Given the description of an element on the screen output the (x, y) to click on. 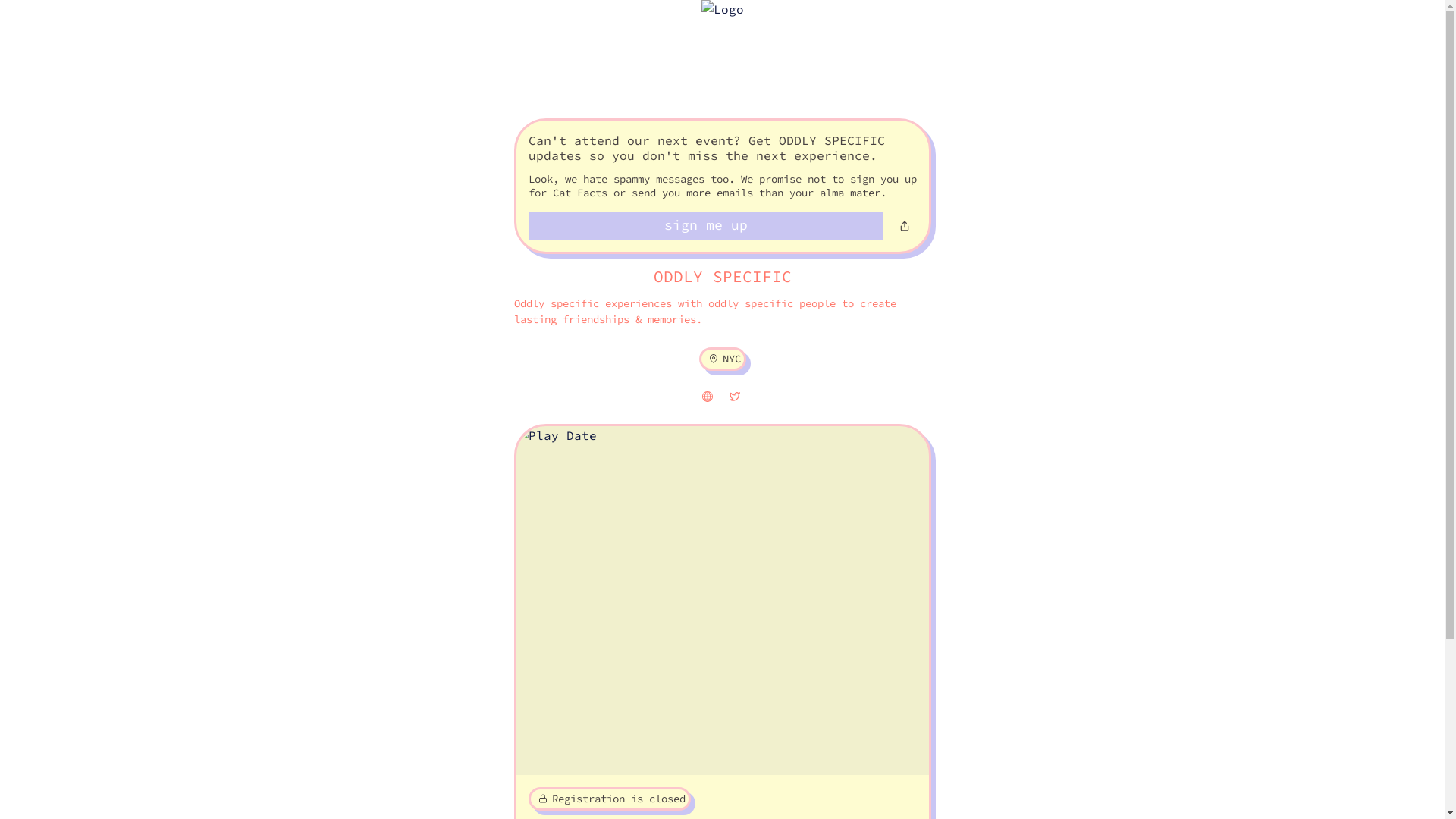
sign me up Element type: text (704, 225)
